Given the description of an element on the screen output the (x, y) to click on. 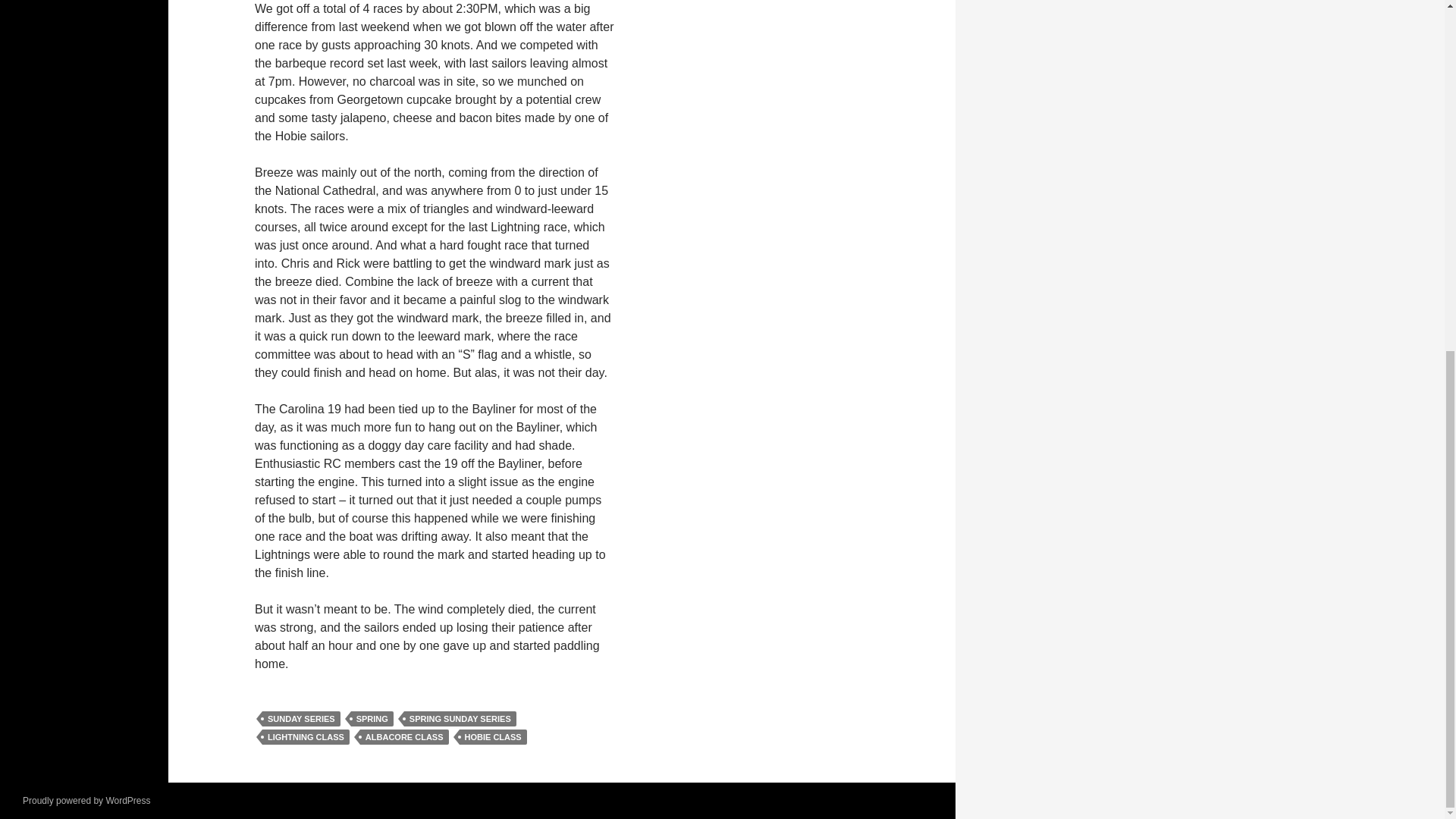
HOBIE CLASS (493, 736)
SUNDAY SERIES (301, 718)
SPRING (371, 718)
LIGHTNING CLASS (305, 736)
ALBACORE CLASS (403, 736)
SPRING SUNDAY SERIES (460, 718)
